Given the description of an element on the screen output the (x, y) to click on. 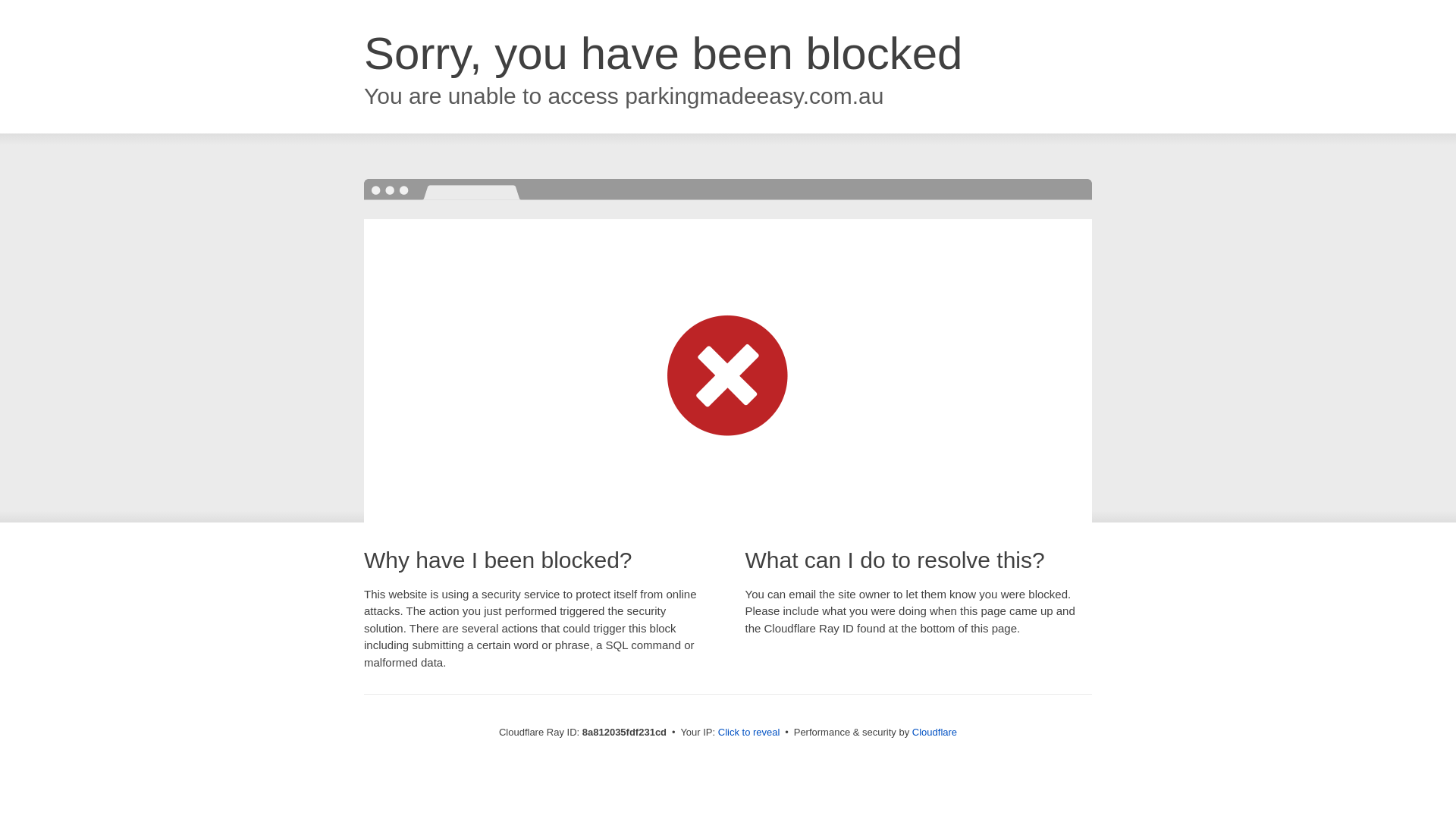
Click to reveal (748, 732)
Cloudflare (934, 731)
